Given the description of an element on the screen output the (x, y) to click on. 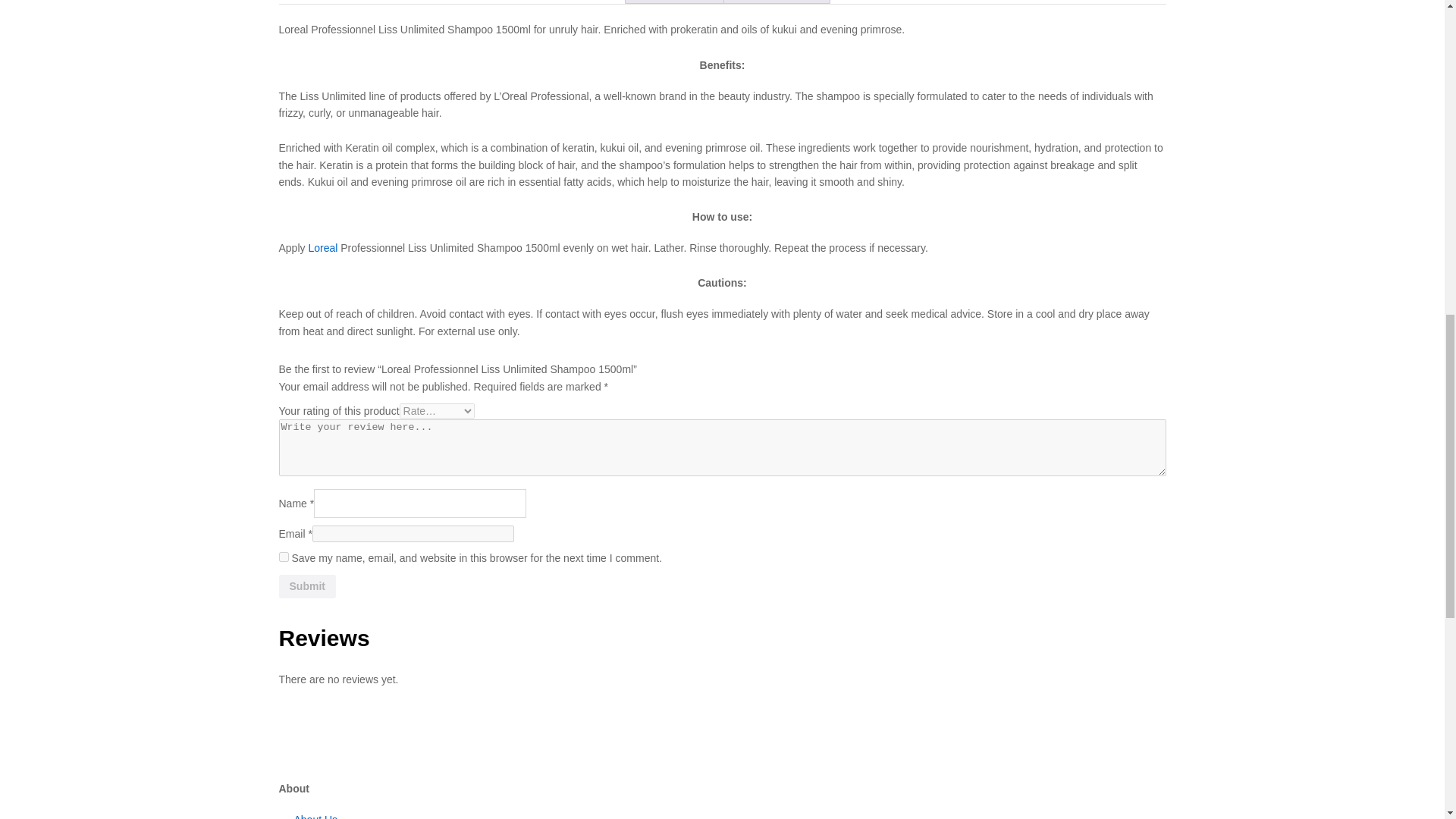
Submit (307, 586)
yes (283, 556)
